Given the description of an element on the screen output the (x, y) to click on. 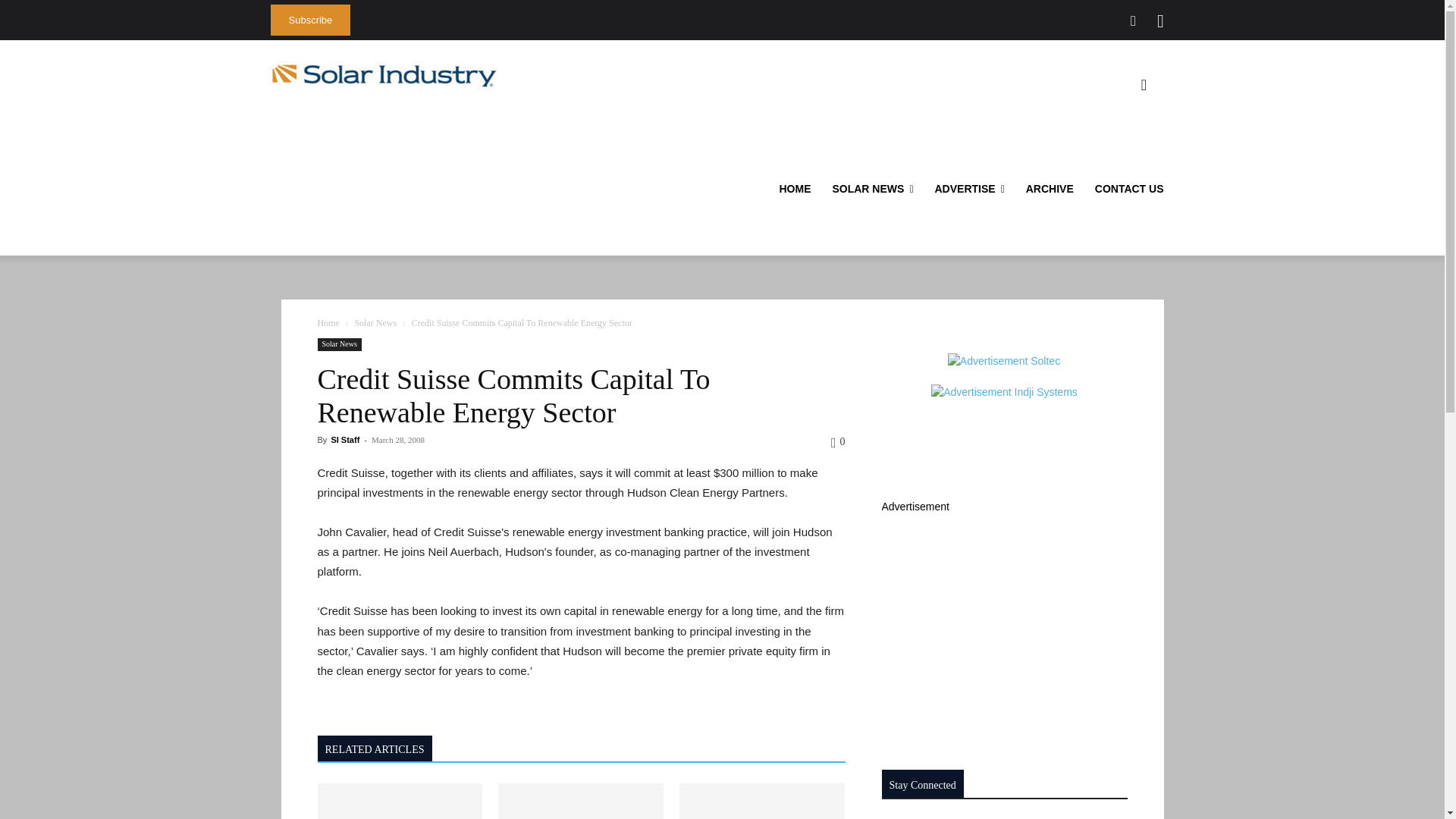
Solar Industry (383, 75)
Twitter (1133, 21)
Subscribe (309, 20)
View all posts in Solar News (374, 322)
Rss (1160, 21)
